Given the description of an element on the screen output the (x, y) to click on. 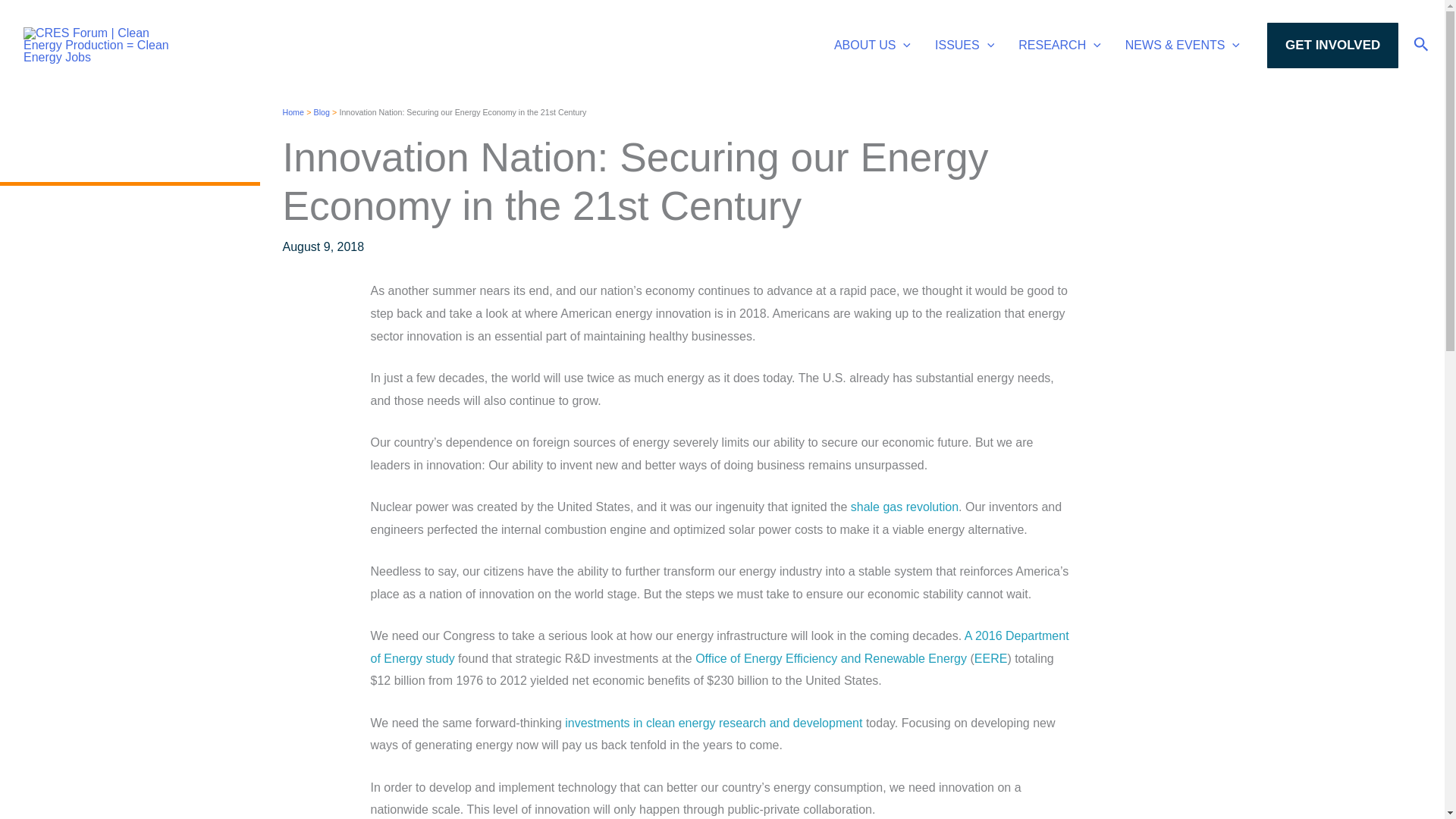
ISSUES (964, 45)
ABOUT US (872, 45)
GET INVOLVED (1331, 44)
RESEARCH (1059, 45)
